Given the description of an element on the screen output the (x, y) to click on. 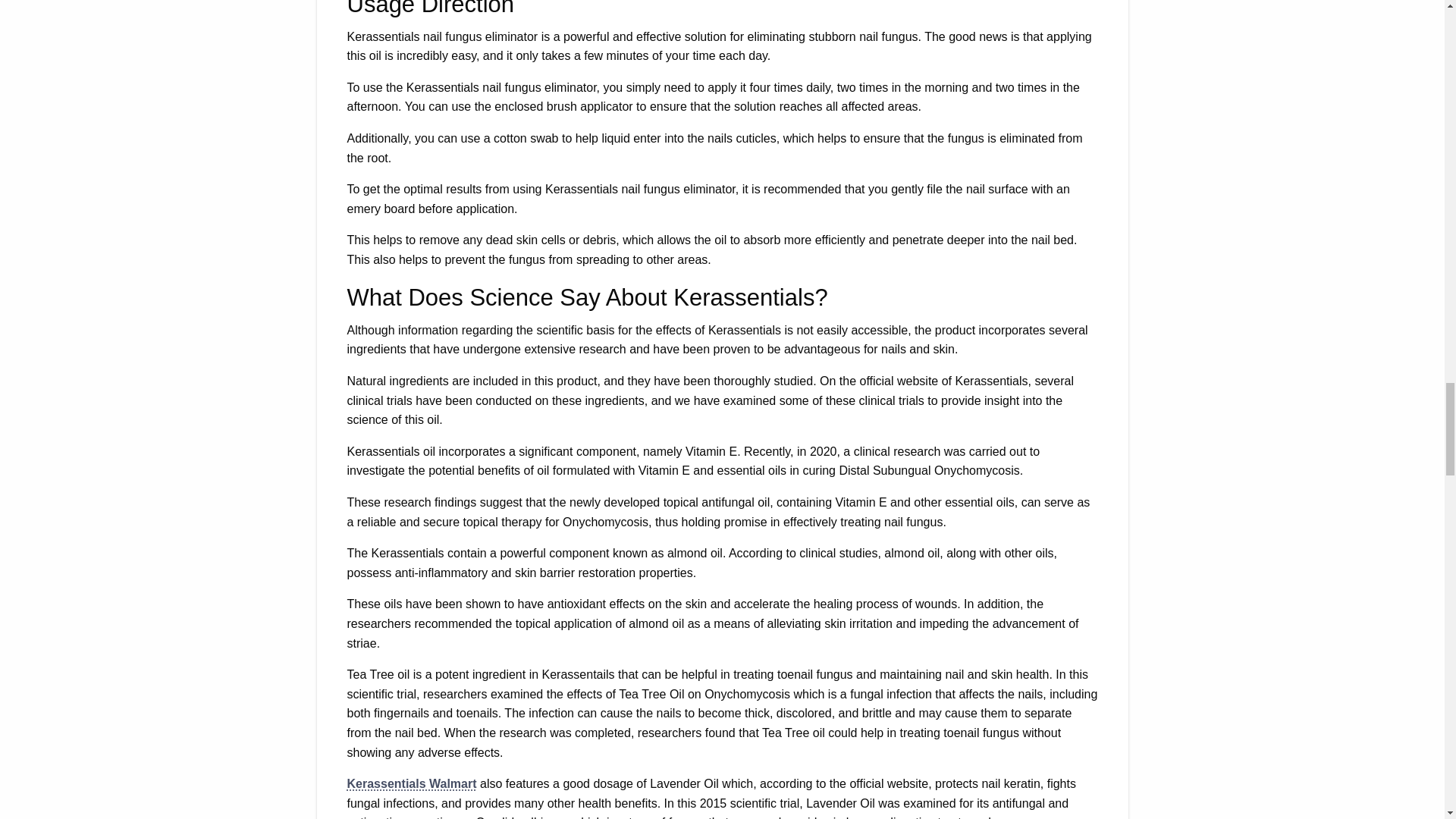
Kerassentials Walmart (412, 783)
